Given the description of an element on the screen output the (x, y) to click on. 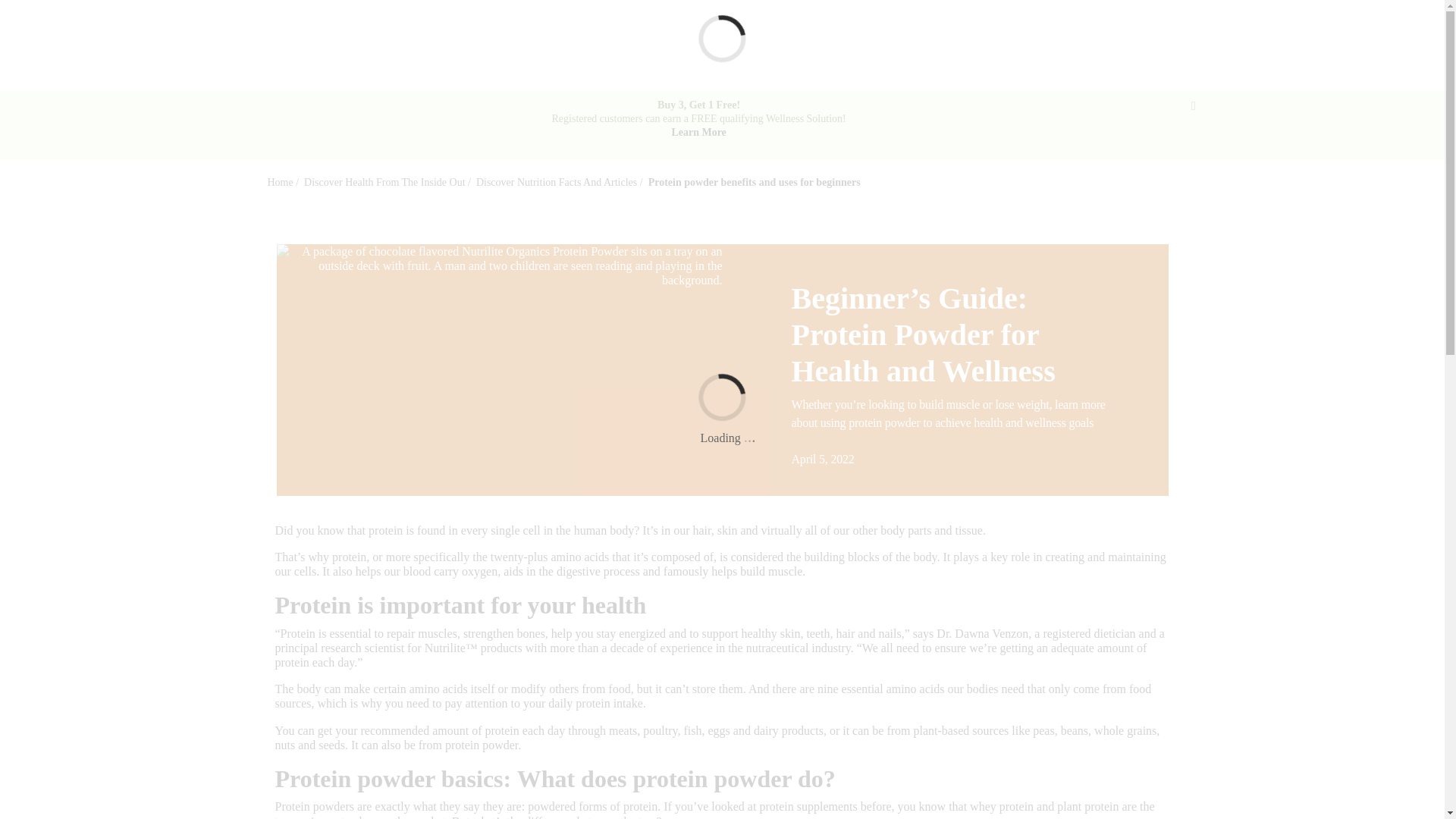
Discover Nutrition Facts And Articles (556, 182)
Home (279, 182)
Discover Health From The Inside Out (384, 182)
Learn More (698, 132)
